Given the description of an element on the screen output the (x, y) to click on. 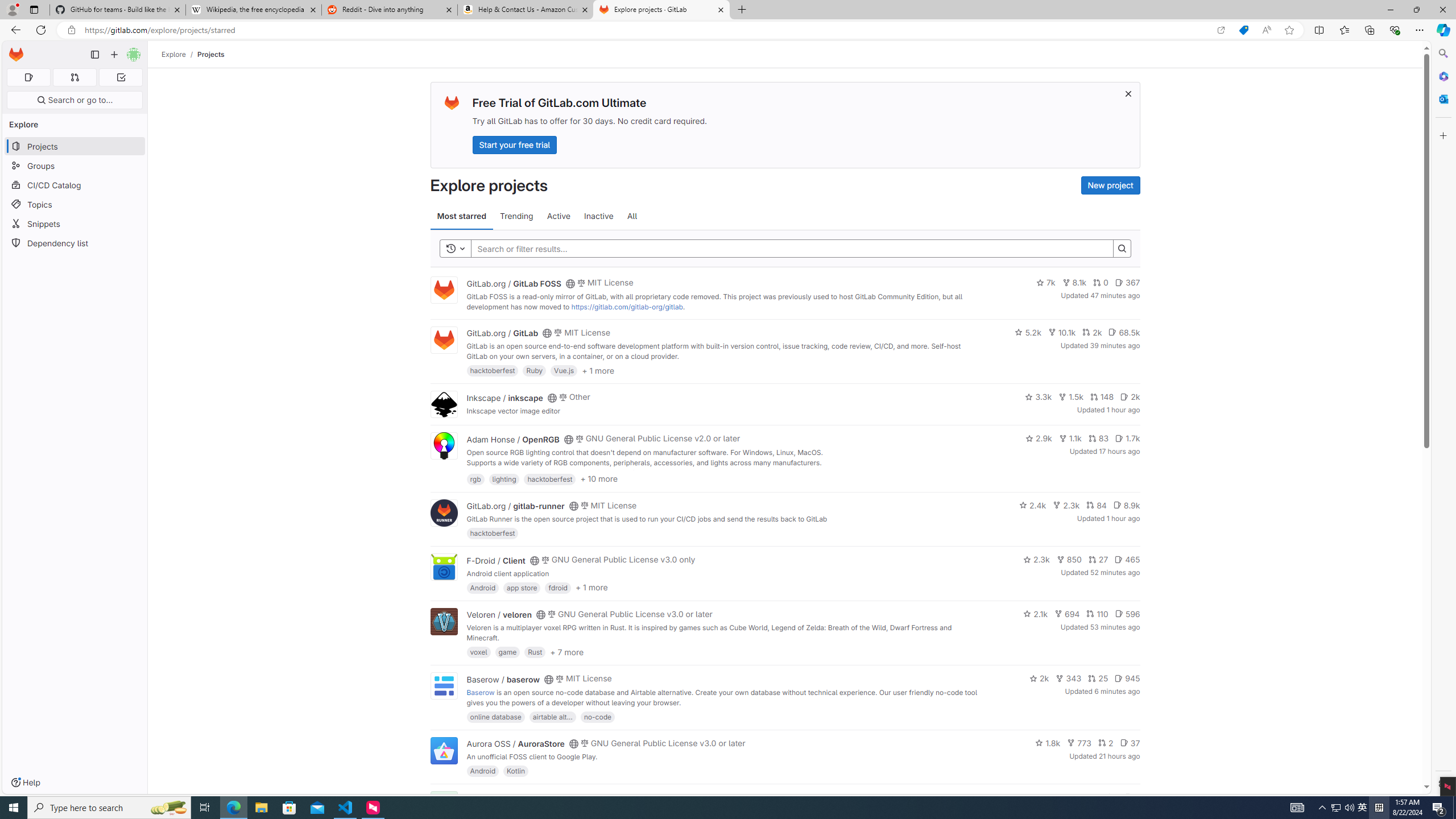
148 (1101, 396)
Open in app (1220, 29)
10.1k (1061, 331)
1 (1111, 797)
1.4k (1054, 797)
2.1k (1035, 613)
Baserow (480, 691)
Create new... (113, 54)
GitLab.org / GitLab FOSS (513, 283)
Merge requests 0 (74, 76)
Inactive (598, 216)
+ 10 more (599, 478)
